Given the description of an element on the screen output the (x, y) to click on. 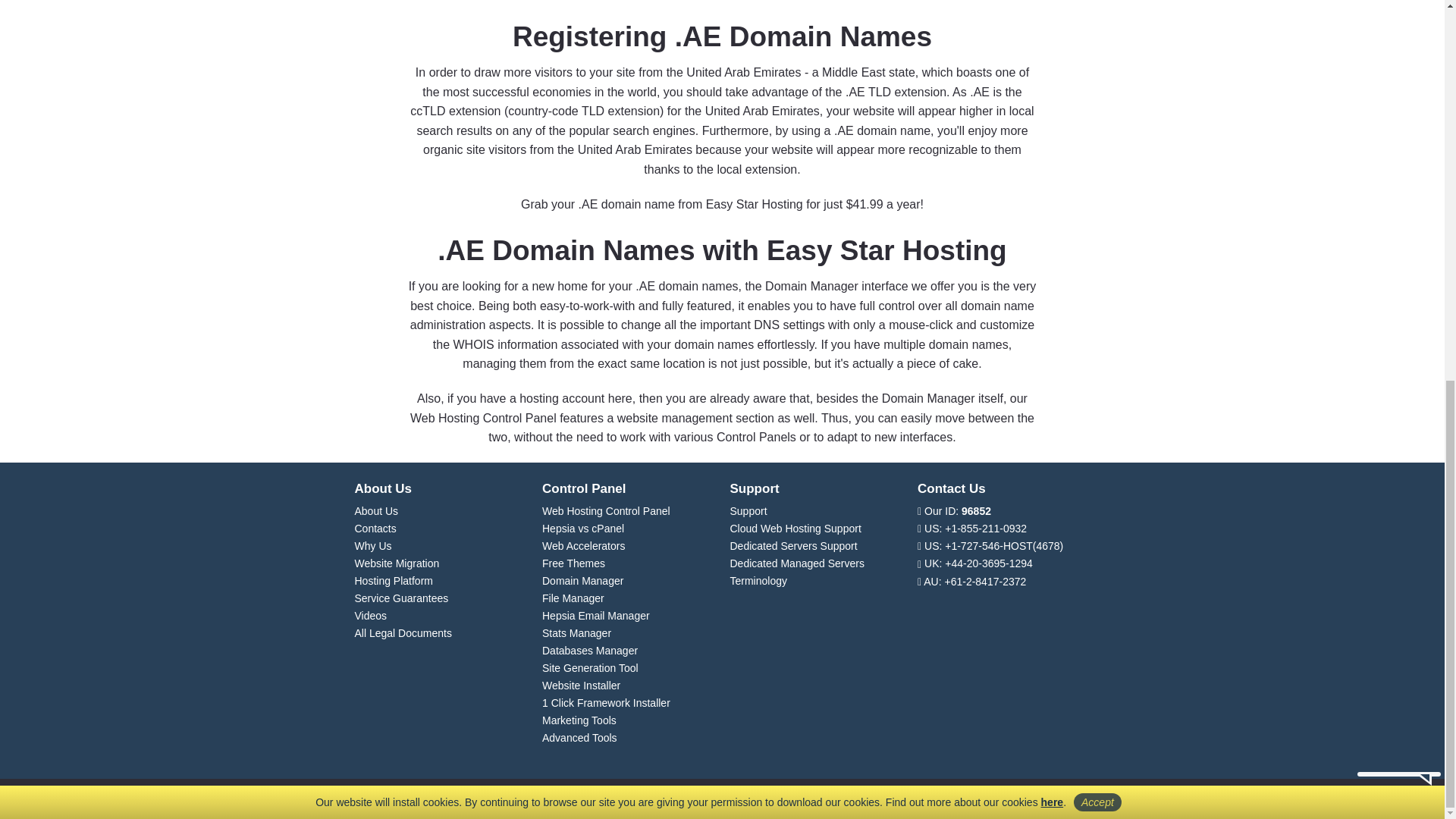
Privacy Policy (1052, 94)
